Given the description of an element on the screen output the (x, y) to click on. 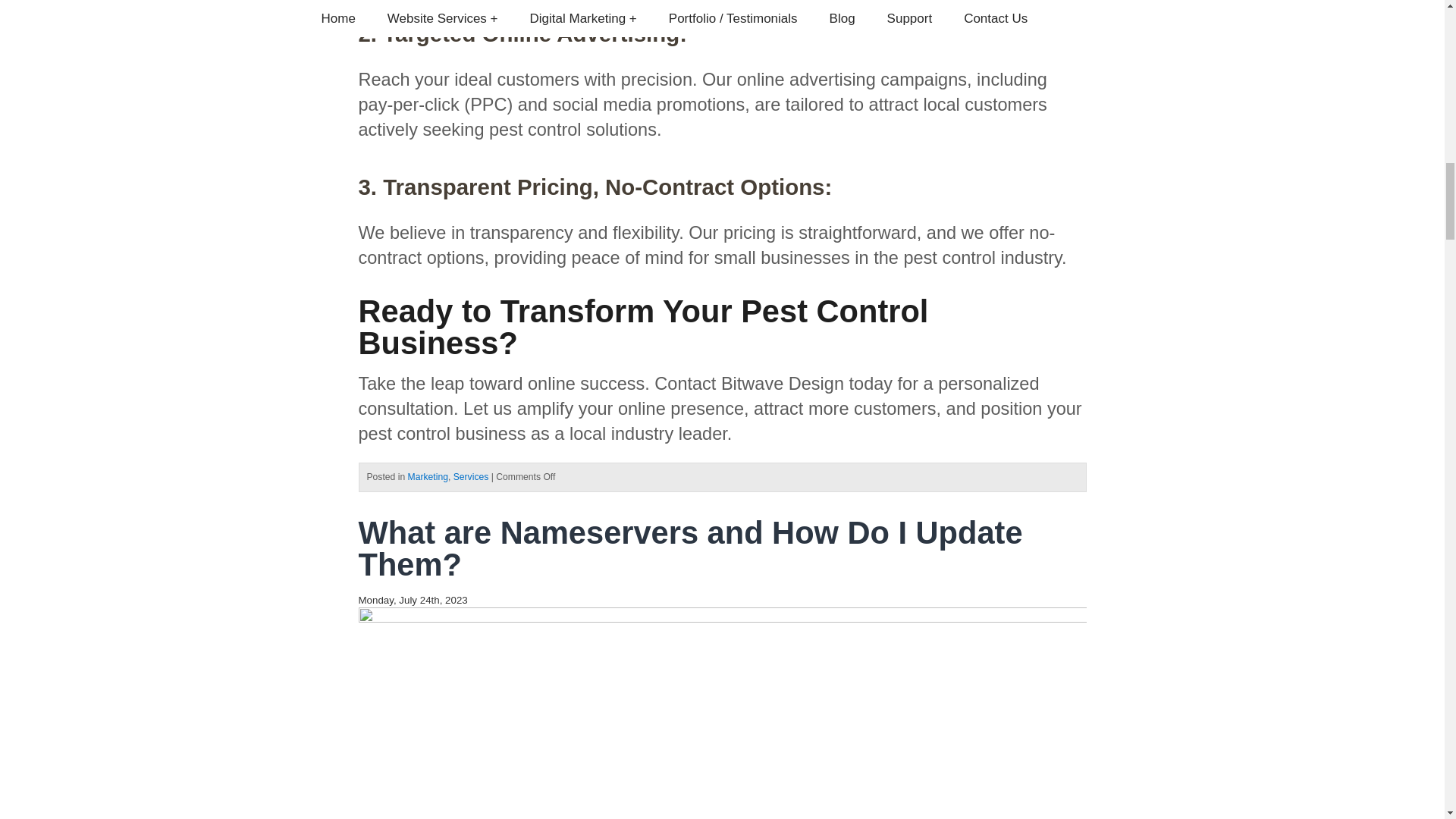
Marketing (427, 476)
Services (470, 476)
What are Nameservers and How Do I Update Them? (690, 548)
